Given the description of an element on the screen output the (x, y) to click on. 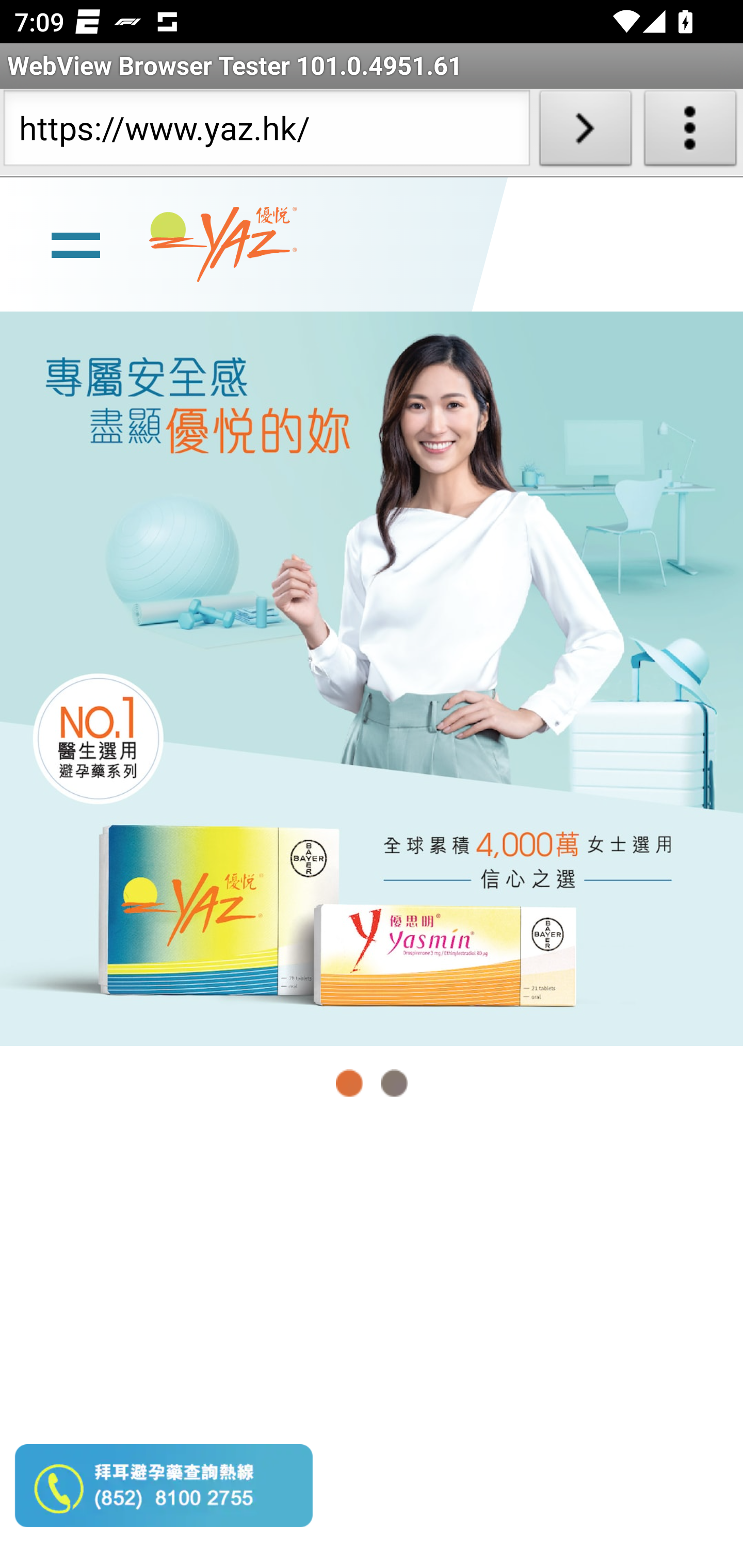
https://www.yaz.hk/ (266, 132)
Load URL (585, 132)
About WebView (690, 132)
www.yaz (222, 244)
line Toggle burger menu (75, 242)
slide 1 Alt tag Alt tag (371, 677)
slide 1 Alt tag Alt tag (371, 677)
Alt tag (371, 677)
1 of 2 (349, 1083)
2 of 2 (393, 1083)
Video Player (371, 1345)
